Given the description of an element on the screen output the (x, y) to click on. 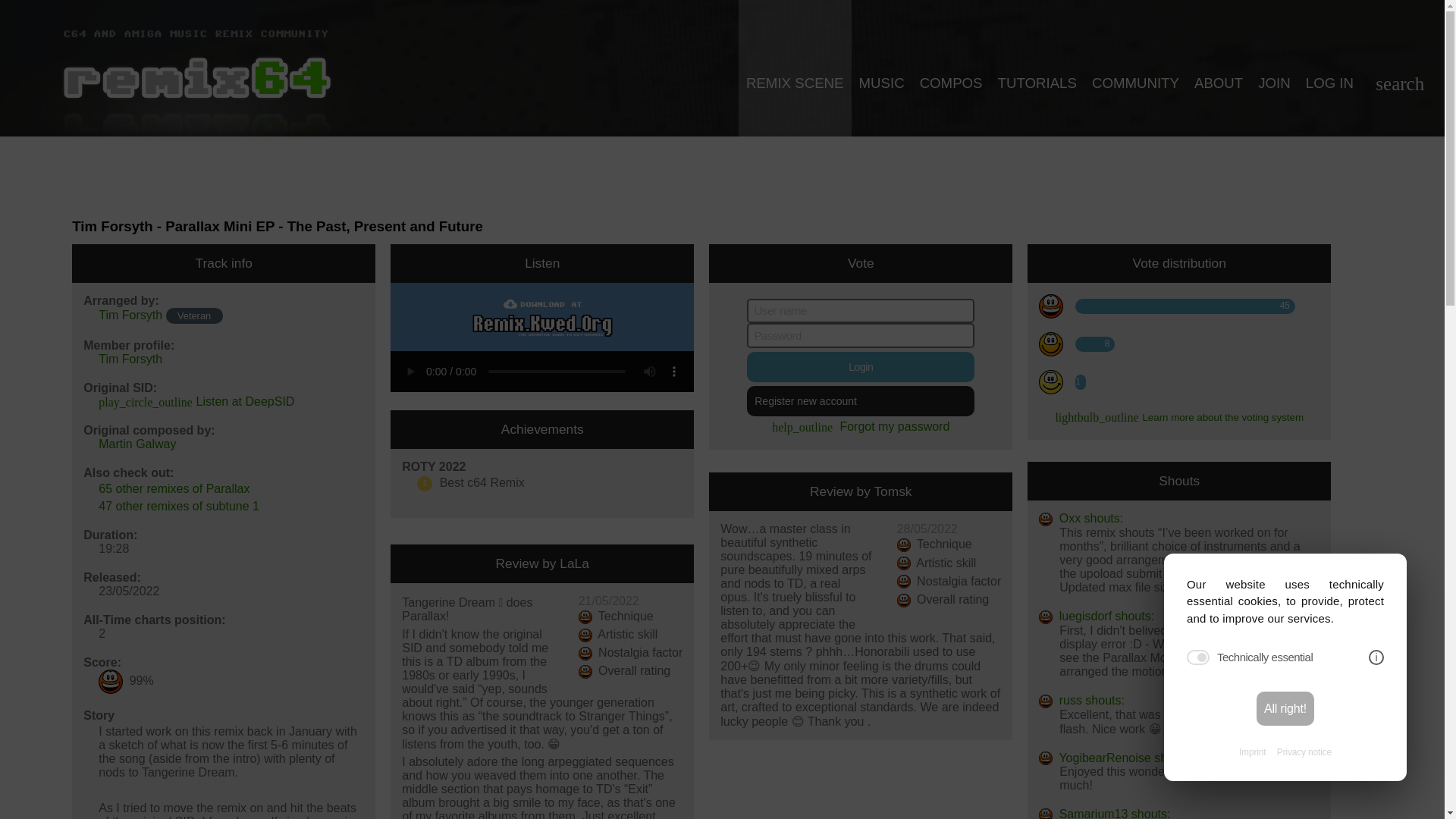
Imprint (1252, 751)
Privacy notice (1304, 751)
Platinum Veteran - 25 years a remixer (193, 315)
Login (860, 367)
on (1197, 657)
